Given the description of an element on the screen output the (x, y) to click on. 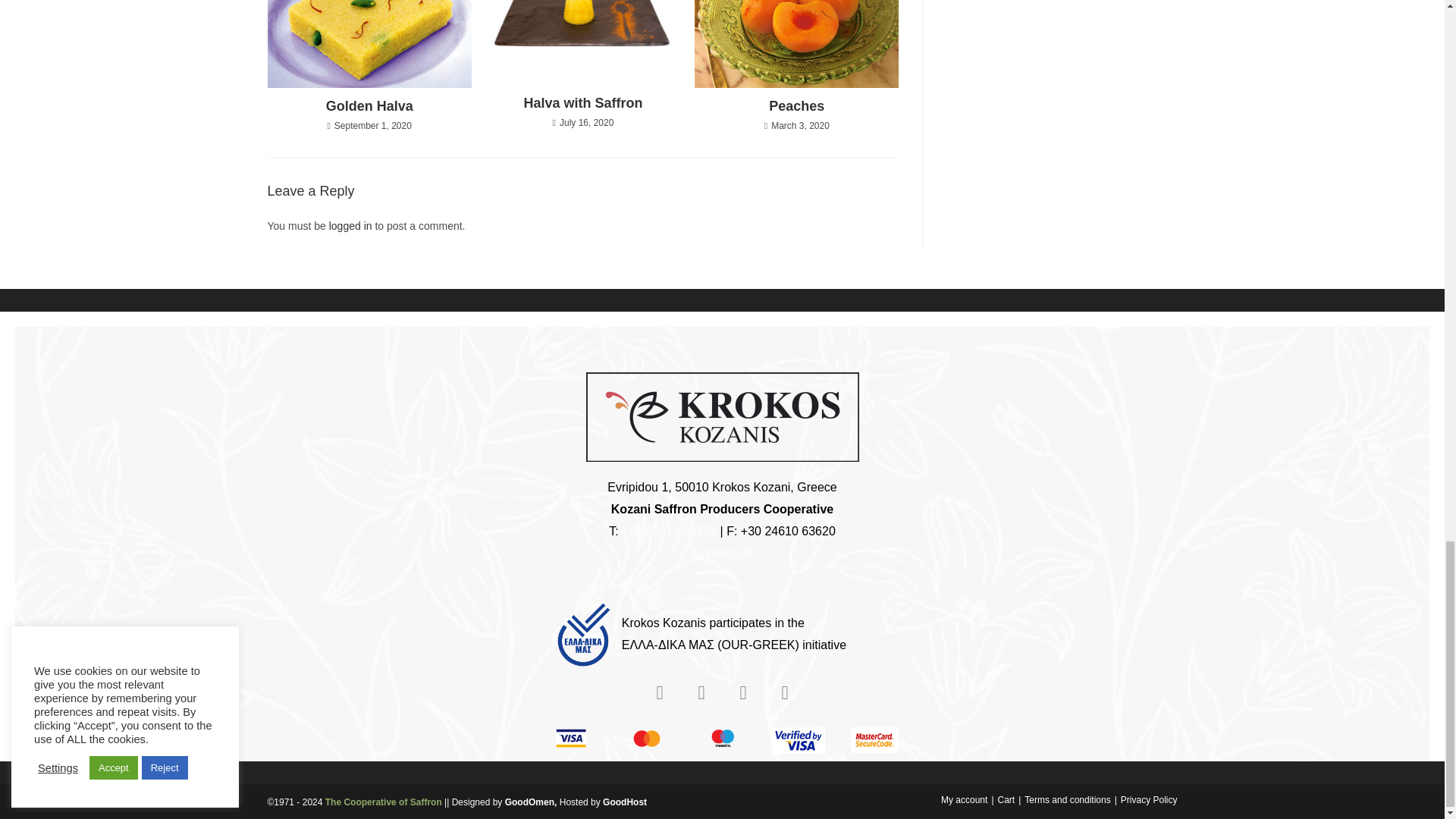
Peaches (796, 105)
Golden Halva (369, 105)
logged in (350, 225)
Krokos Kozanis (722, 416)
Peaches (796, 105)
Golden Halva (369, 105)
Halva with Saffron (582, 102)
Halva with Saffron (582, 102)
